Given the description of an element on the screen output the (x, y) to click on. 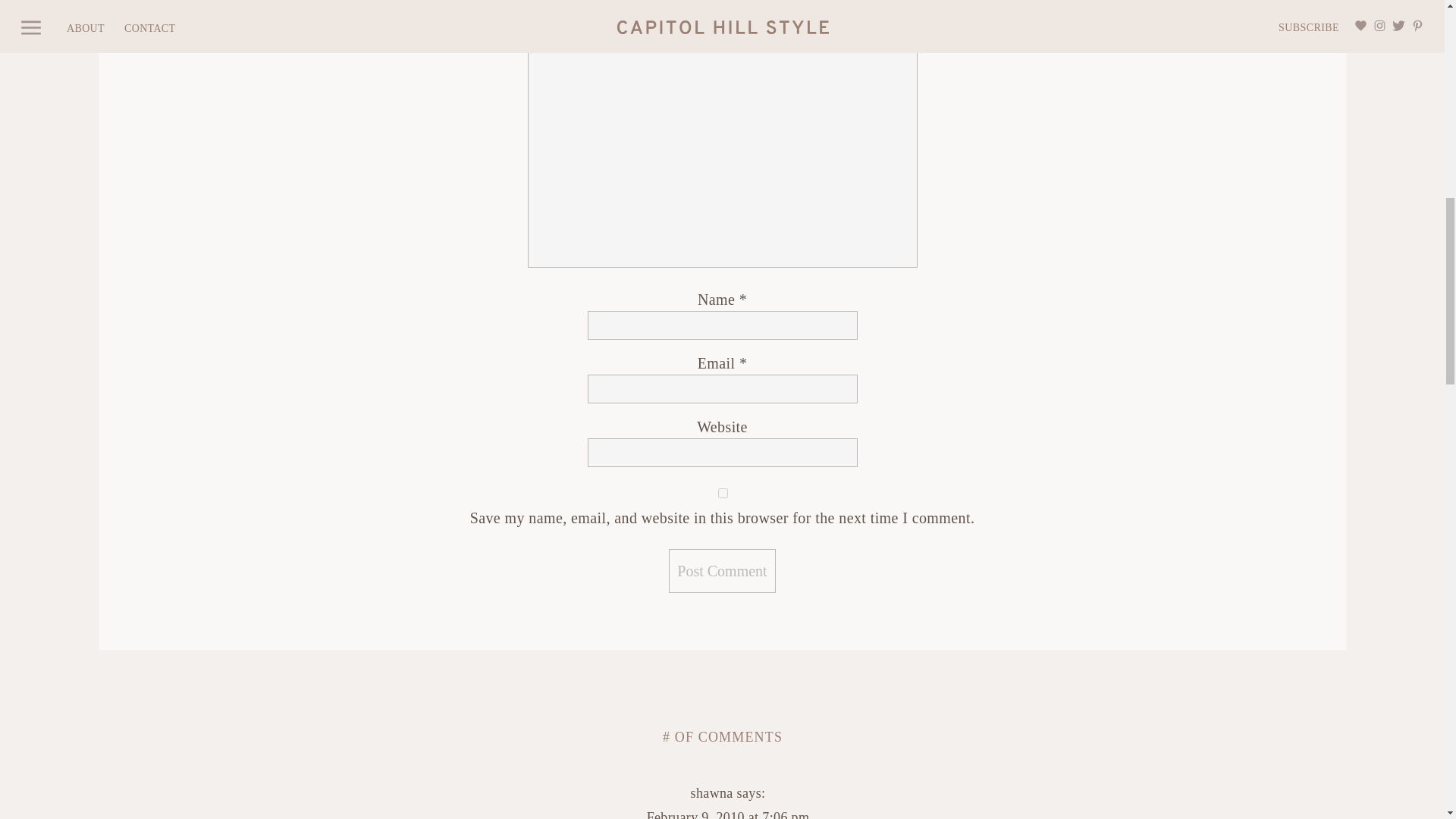
Post Comment (721, 570)
February 9, 2010 at 7:06 pm (727, 814)
Post Comment (721, 570)
yes (721, 492)
